Given the description of an element on the screen output the (x, y) to click on. 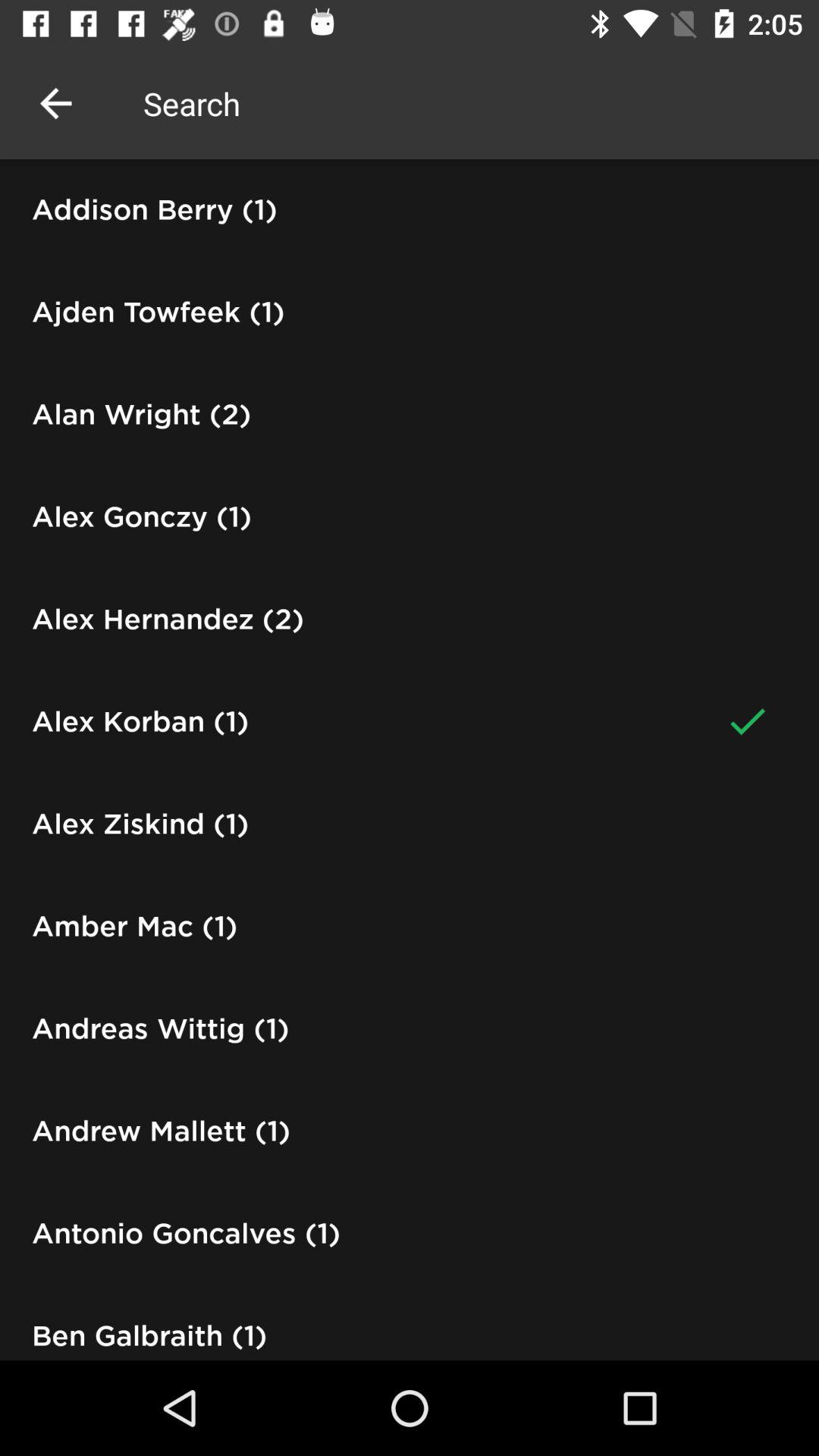
open the icon above the addison berry (1) icon (55, 103)
